Given the description of an element on the screen output the (x, y) to click on. 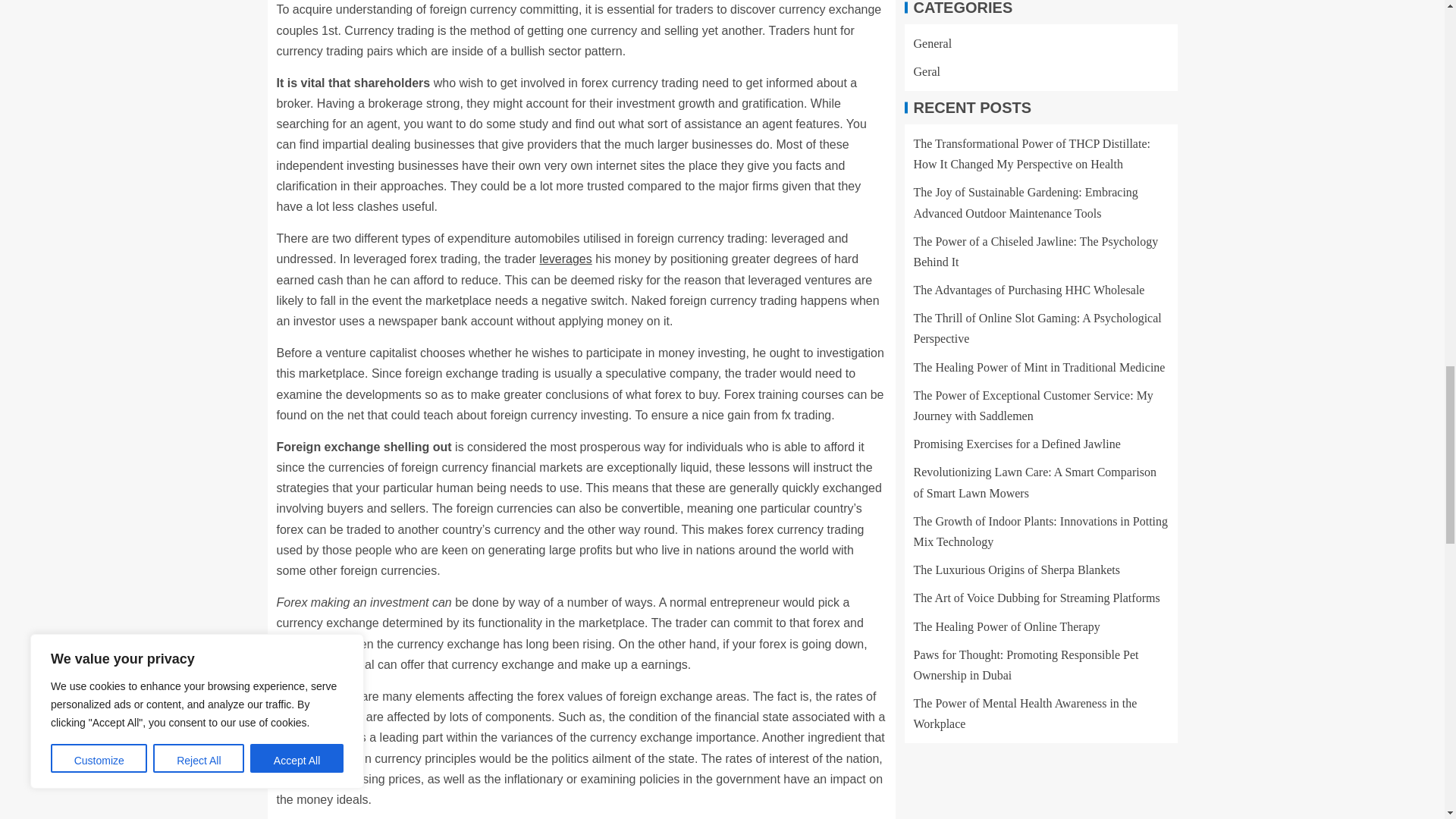
leverages (564, 258)
